Given the description of an element on the screen output the (x, y) to click on. 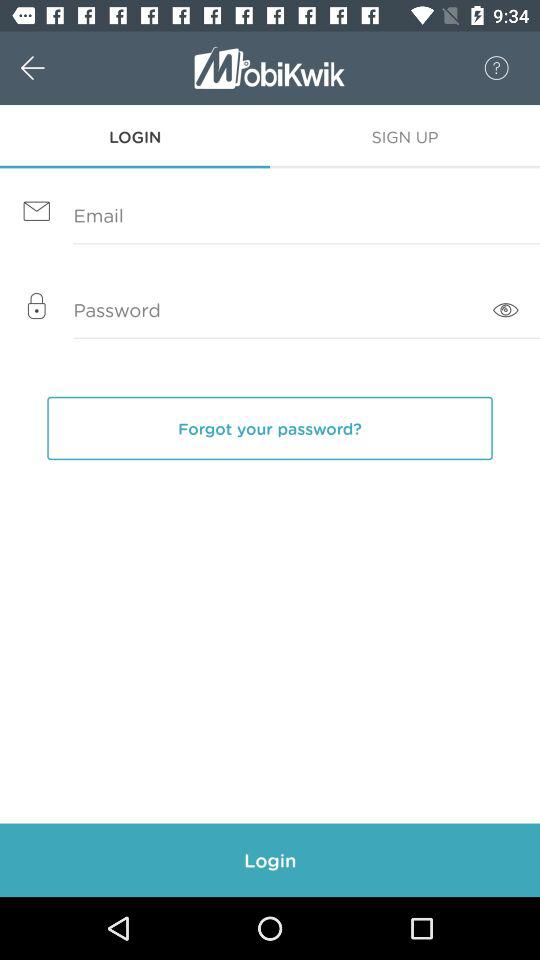
turn on icon above login (54, 68)
